Given the description of an element on the screen output the (x, y) to click on. 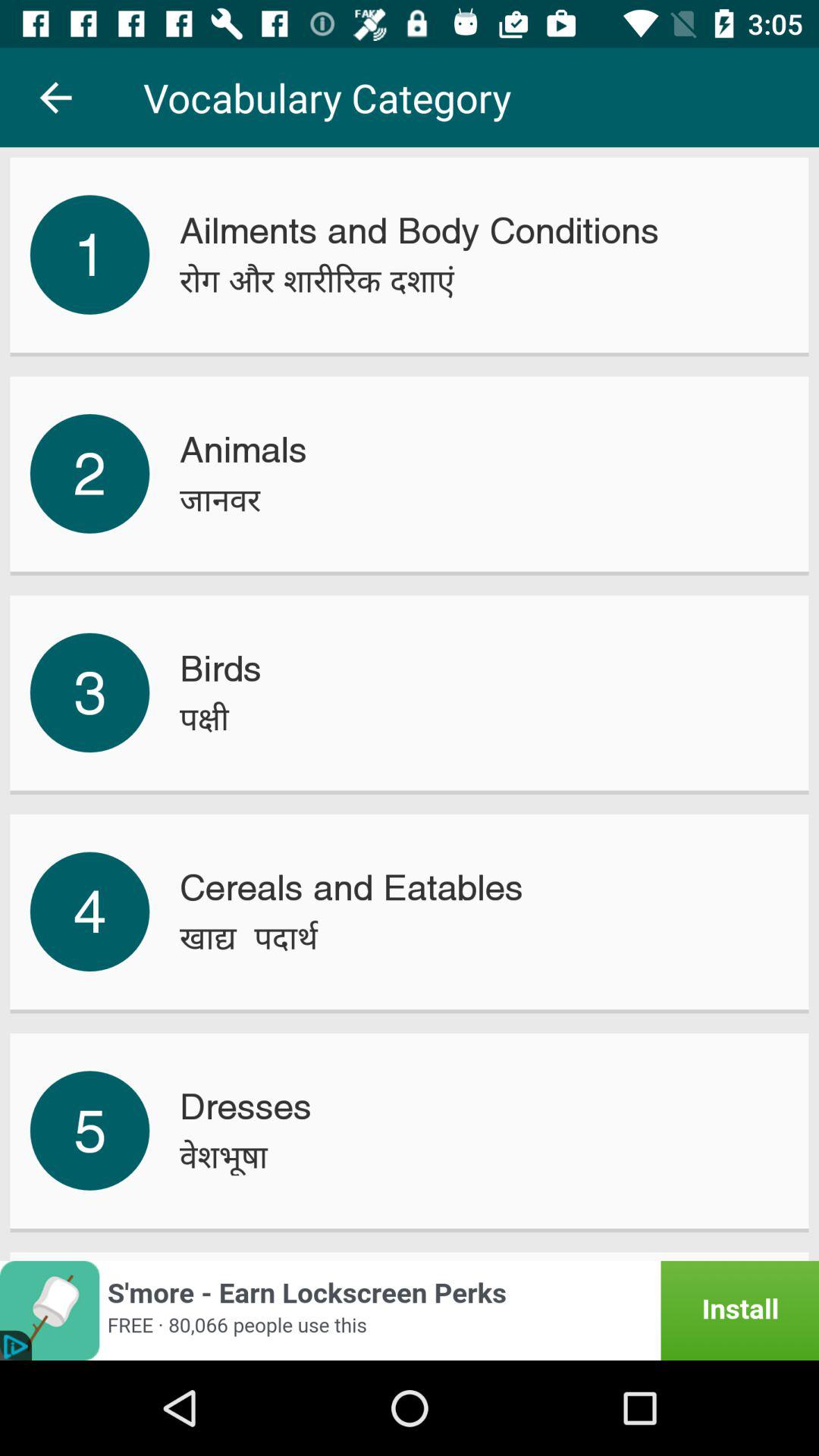
click the icon next to the dresses item (89, 1130)
